Given the description of an element on the screen output the (x, y) to click on. 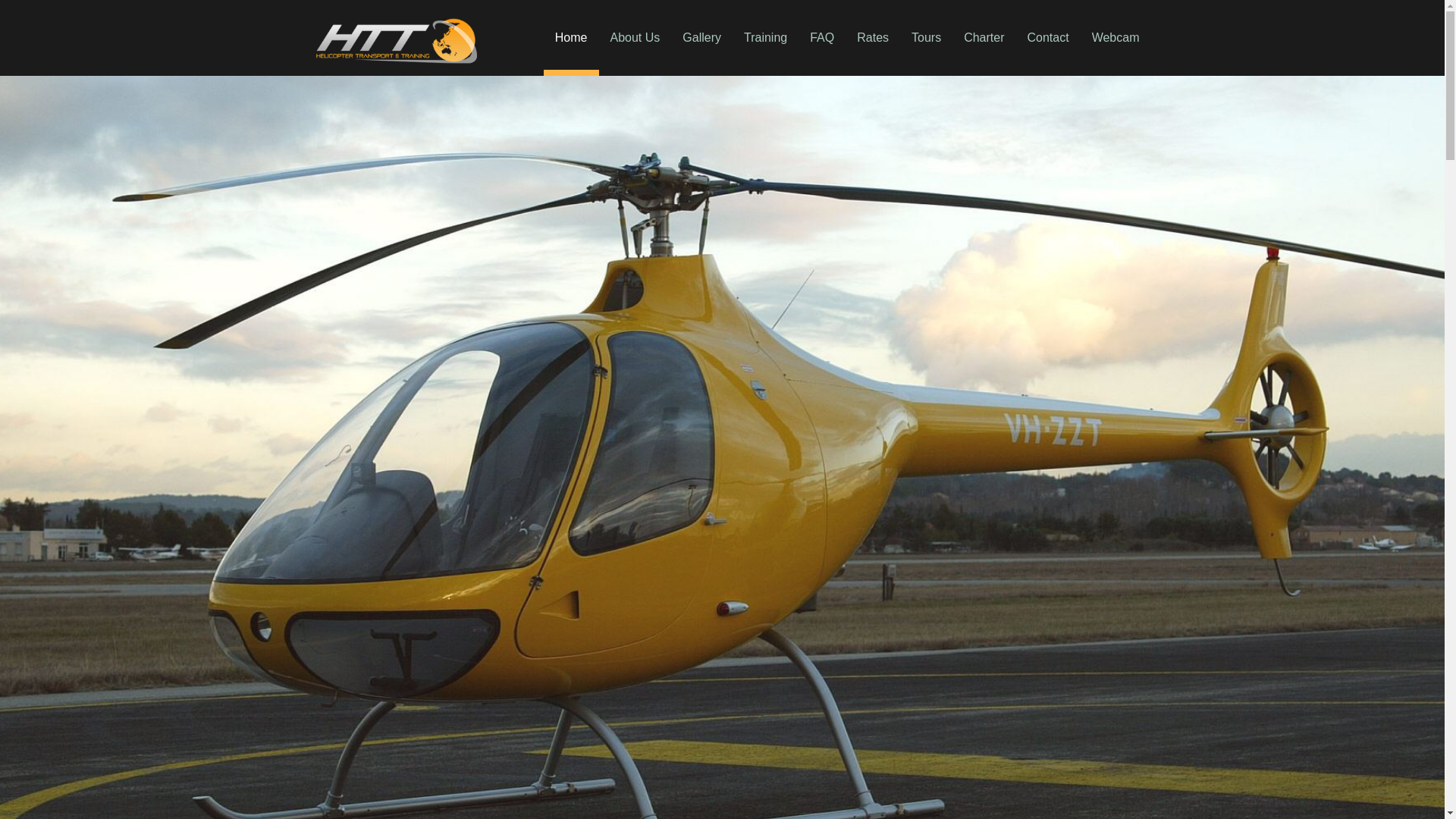
Gallery Element type: text (701, 37)
Rates Element type: text (872, 37)
FAQ Element type: text (821, 37)
Contact Element type: text (1048, 37)
Tours Element type: text (926, 37)
Home Element type: text (571, 37)
Webcam Element type: text (1115, 37)
About Us Element type: text (635, 37)
Training Element type: text (765, 37)
Charter Element type: text (983, 37)
